Given the description of an element on the screen output the (x, y) to click on. 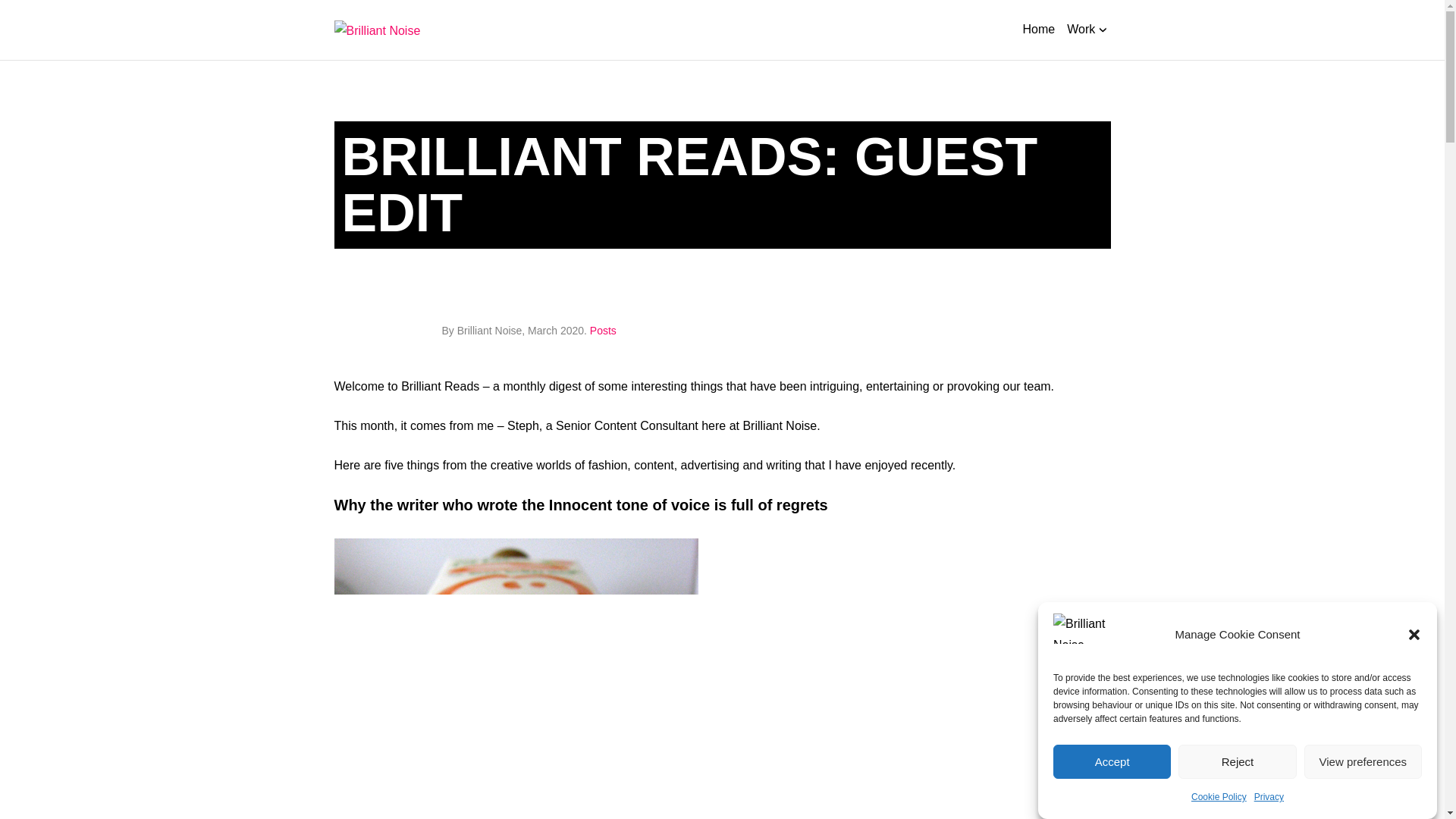
Posts (602, 330)
Home (1038, 29)
Work (1085, 29)
